Given the description of an element on the screen output the (x, y) to click on. 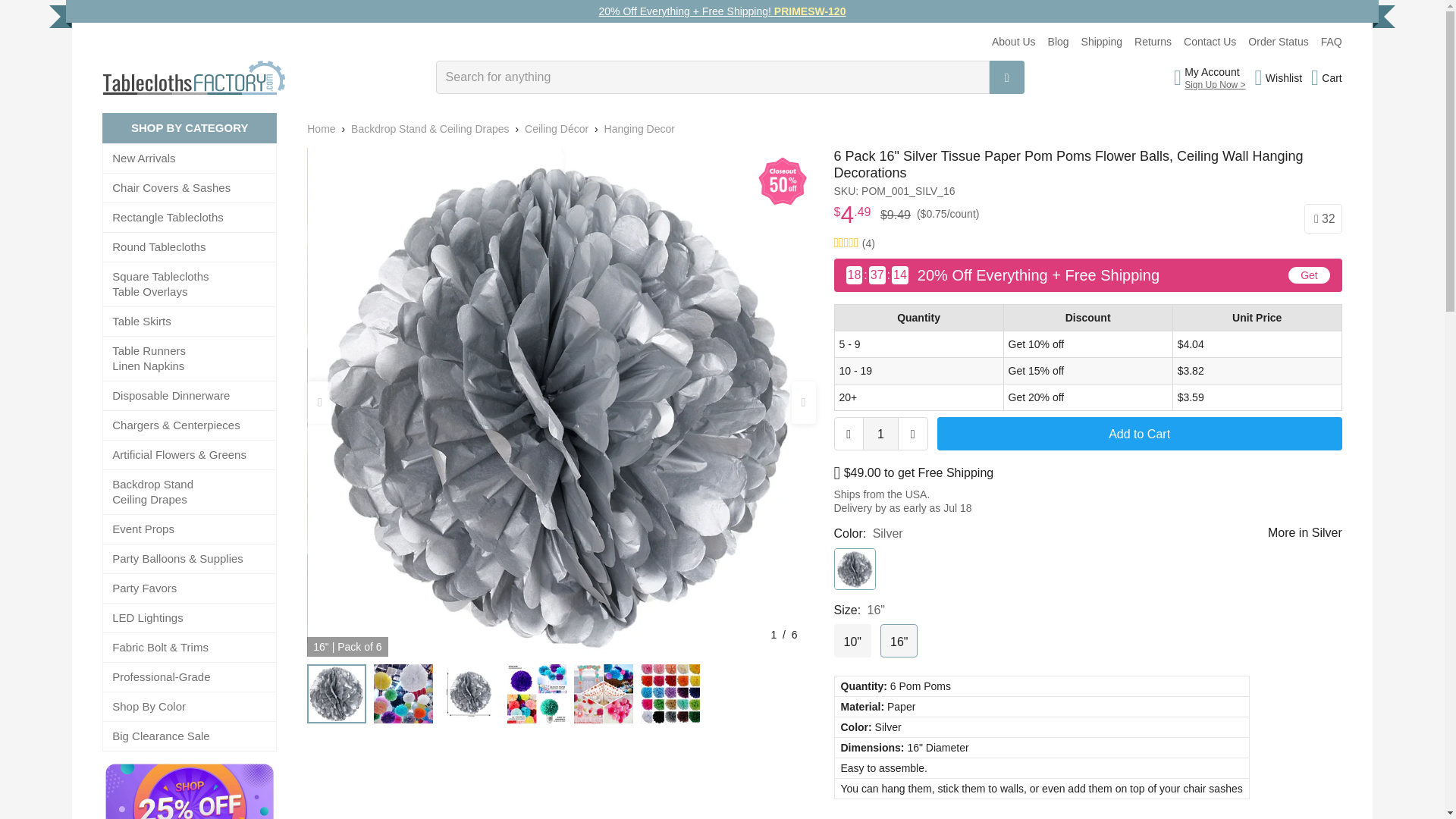
FAQ (1331, 41)
Shipping (1101, 41)
About Us (1013, 41)
Wishlist (1278, 77)
16" (898, 640)
Order Status (1277, 41)
Blog (1058, 41)
1 (880, 433)
Cart (1326, 77)
10" (852, 640)
Back to the frontpage (320, 128)
Returns (1153, 41)
Contact Us (1209, 41)
My Account (1214, 71)
Silver (855, 568)
